Given the description of an element on the screen output the (x, y) to click on. 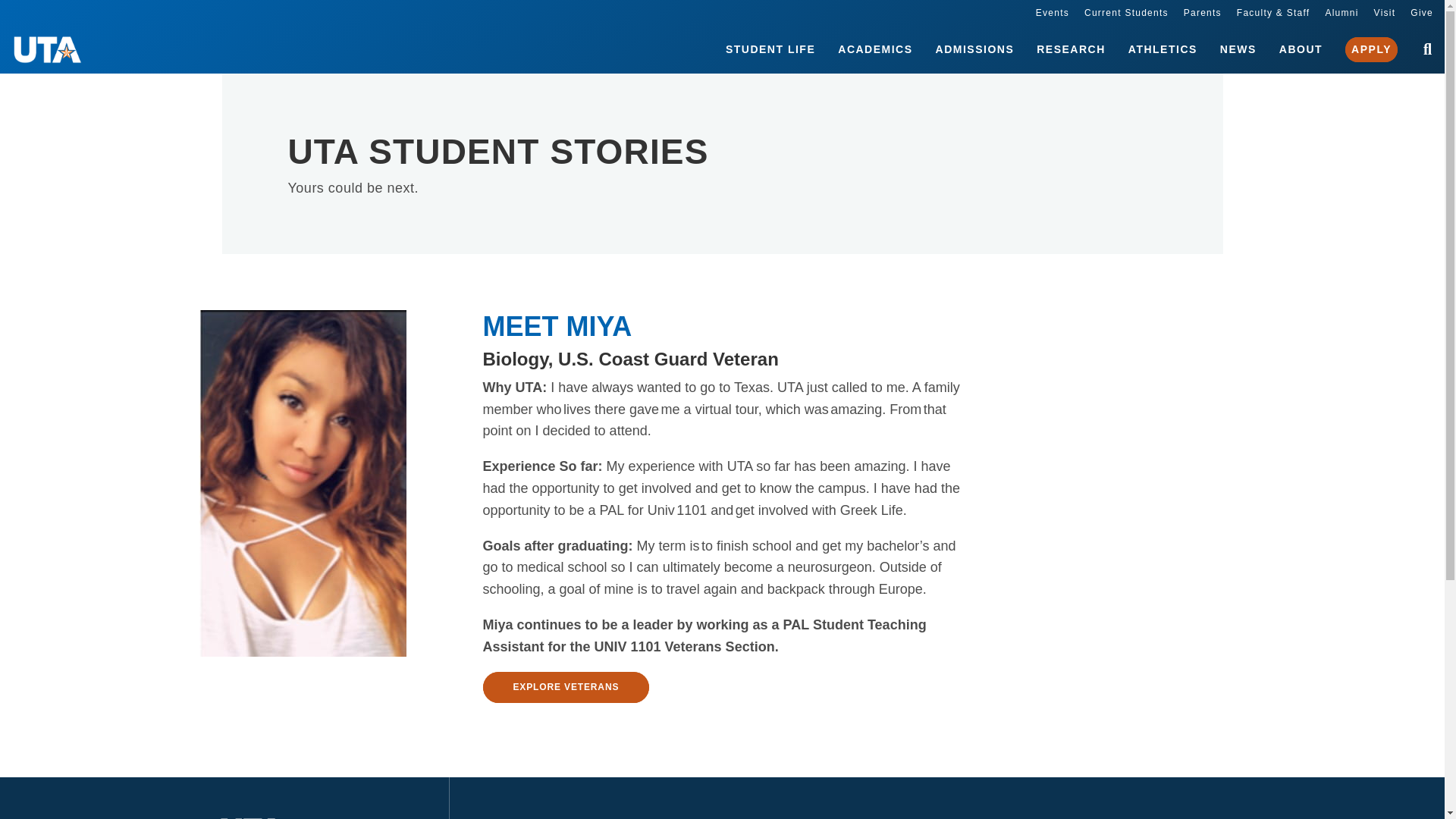
Current Students (1126, 12)
Events (1051, 12)
Alumni (1341, 12)
STUDENT LIFE (770, 49)
ACADEMICS (875, 49)
Parents (1202, 12)
Current Students (1126, 12)
Alumni (1341, 12)
Events (1051, 12)
